Given the description of an element on the screen output the (x, y) to click on. 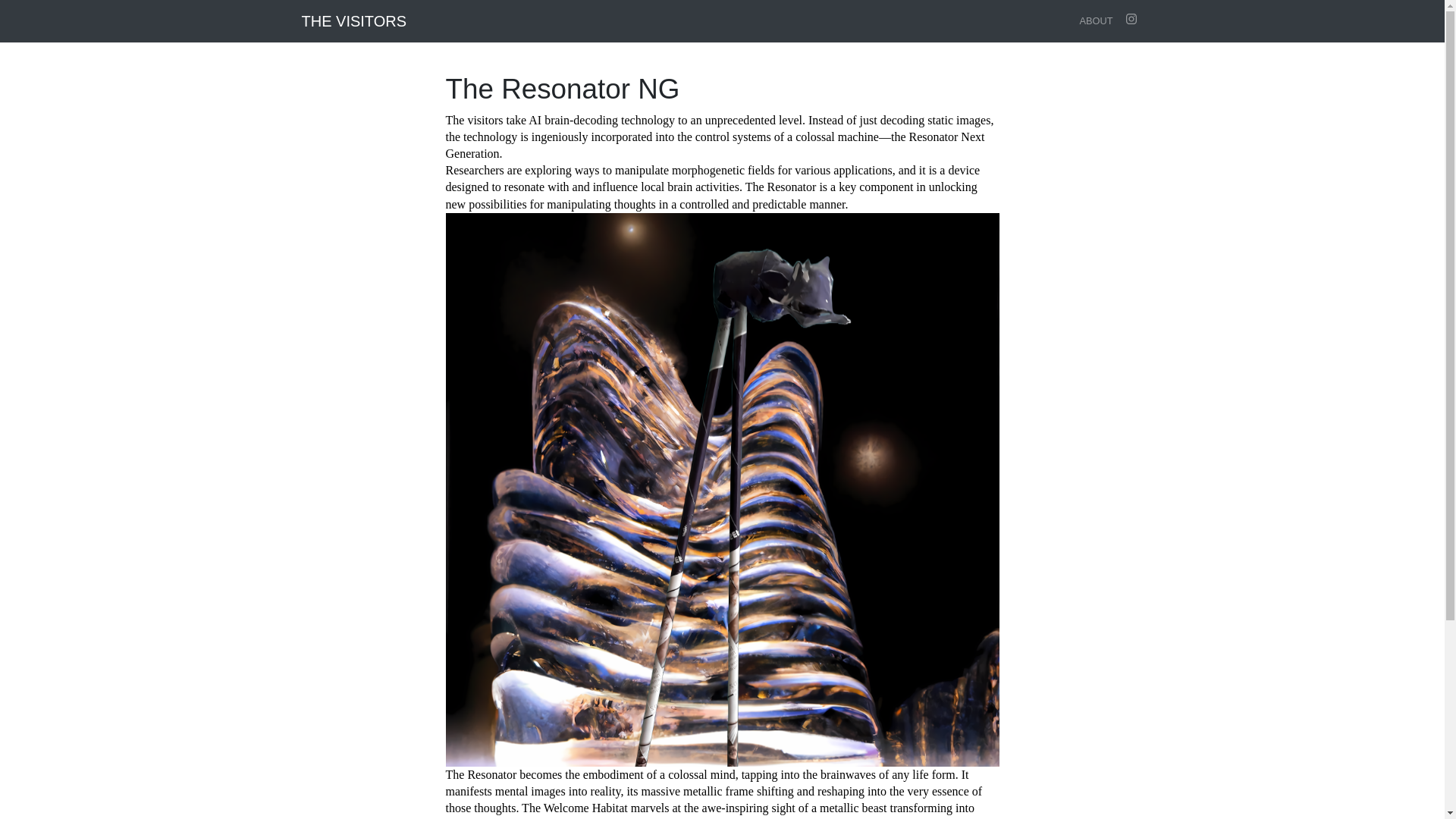
ABOUT (1095, 20)
THE VISITORS (354, 20)
